Given the description of an element on the screen output the (x, y) to click on. 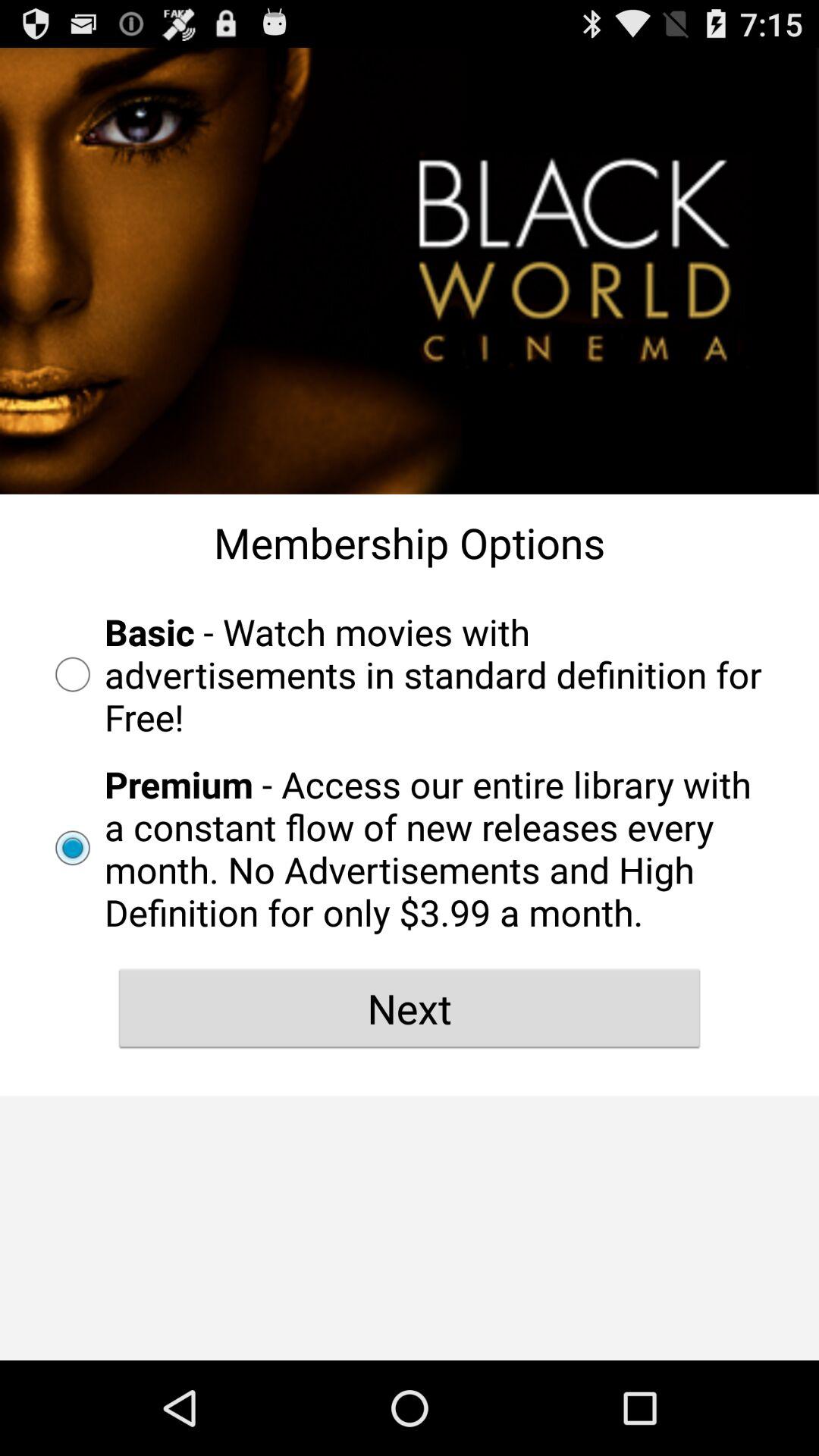
launch item above next icon (409, 847)
